Given the description of an element on the screen output the (x, y) to click on. 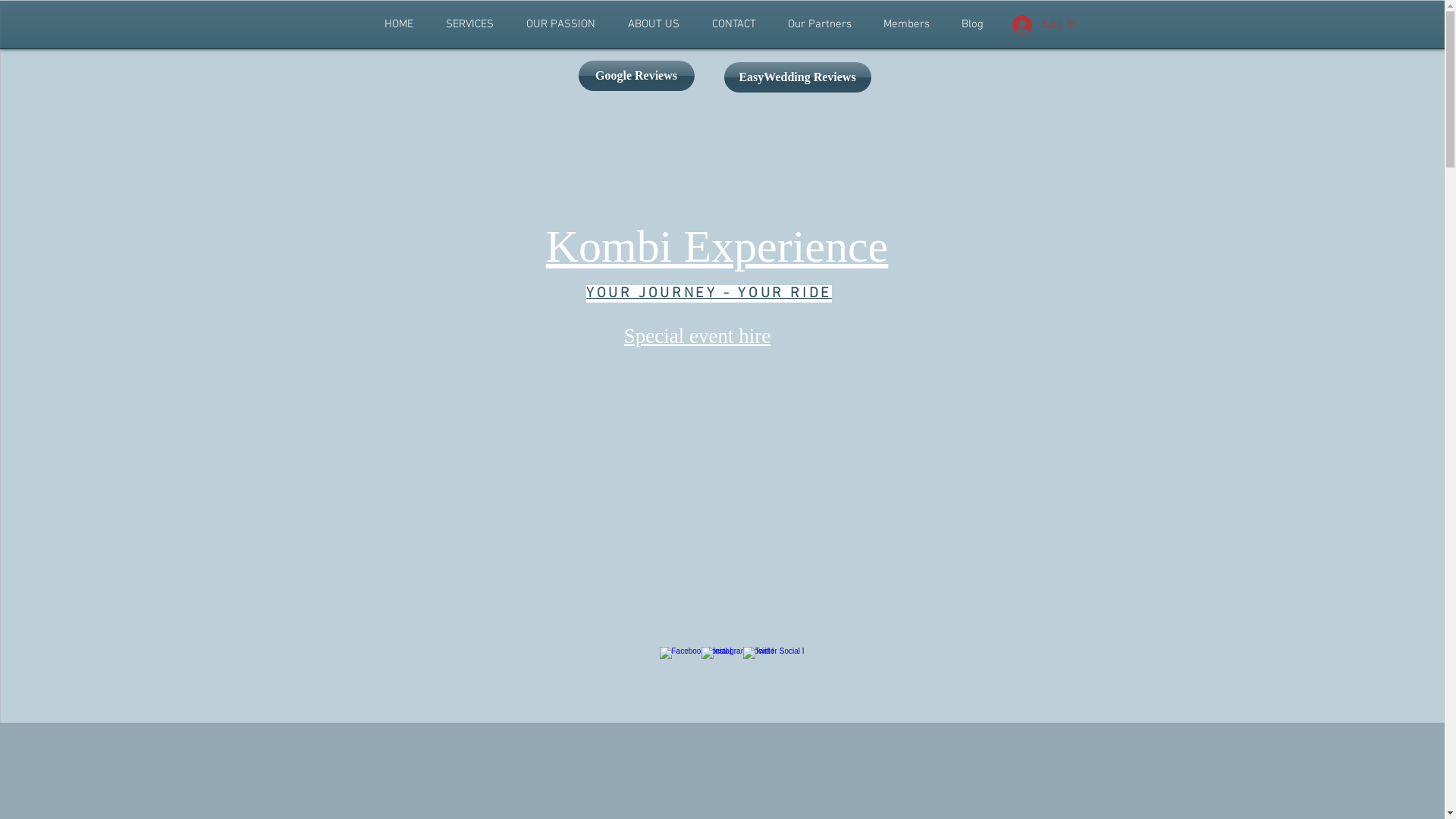
Google Reviews Element type: text (635, 75)
ABOUT US Element type: text (653, 24)
Log In Element type: text (1043, 24)
CONTACT Element type: text (733, 24)
SERVICES Element type: text (469, 24)
Blog Element type: text (971, 24)
TWIPLA (Visitor Analytics) Element type: hover (1058, 195)
HOME Element type: text (398, 24)
Members Element type: text (906, 24)
EasyWedding Reviews Element type: text (796, 77)
Special event hire Element type: text (697, 335)
Our Partners Element type: text (819, 24)
Kombi Experience Element type: text (717, 246)
YOUR JOURNEY - YOUR RIDE Element type: text (708, 291)
OUR PASSION Element type: text (560, 24)
